Given the description of an element on the screen output the (x, y) to click on. 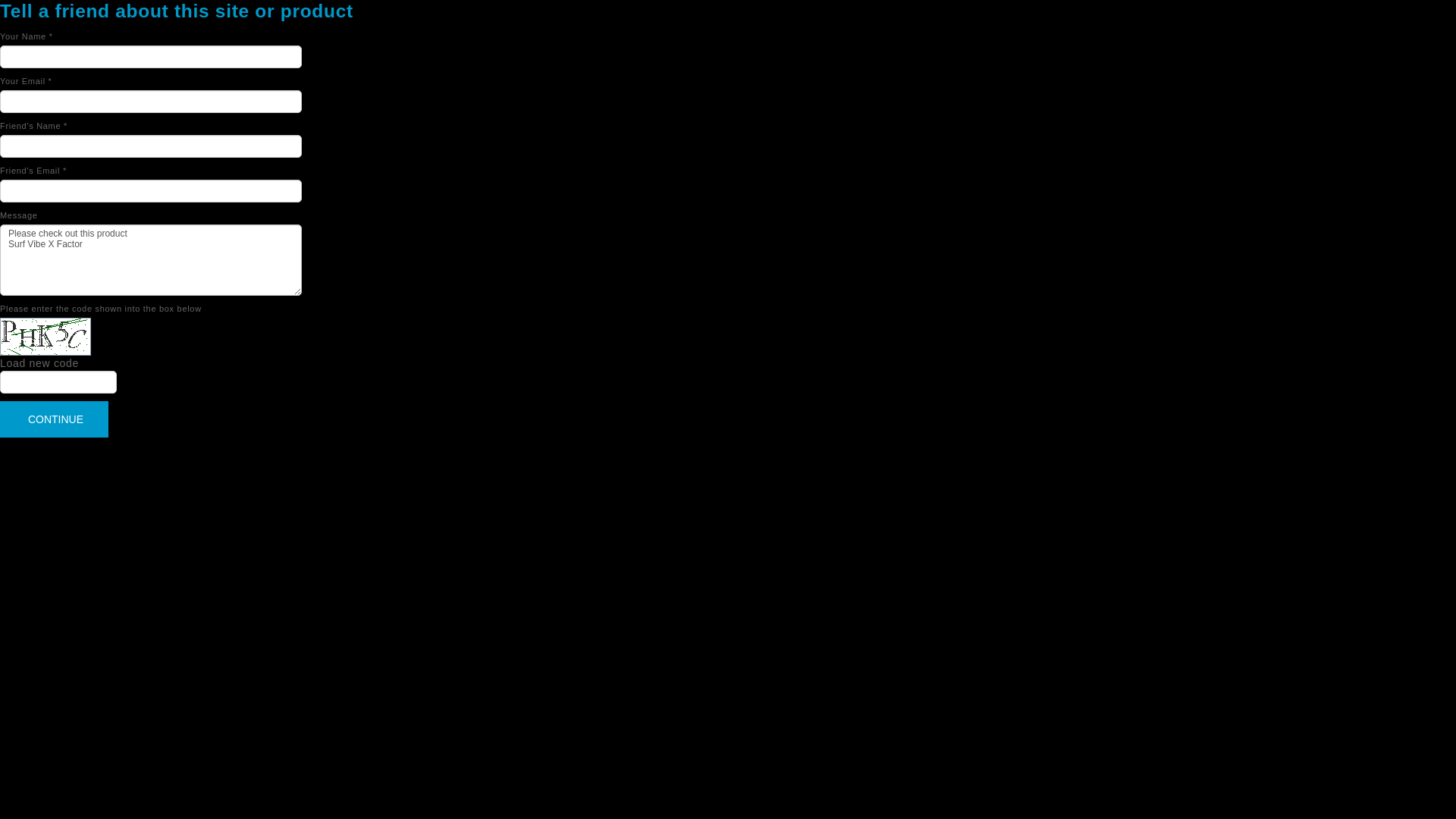
Load new code Element type: text (39, 363)
 Continue Element type: text (54, 419)
